Given the description of an element on the screen output the (x, y) to click on. 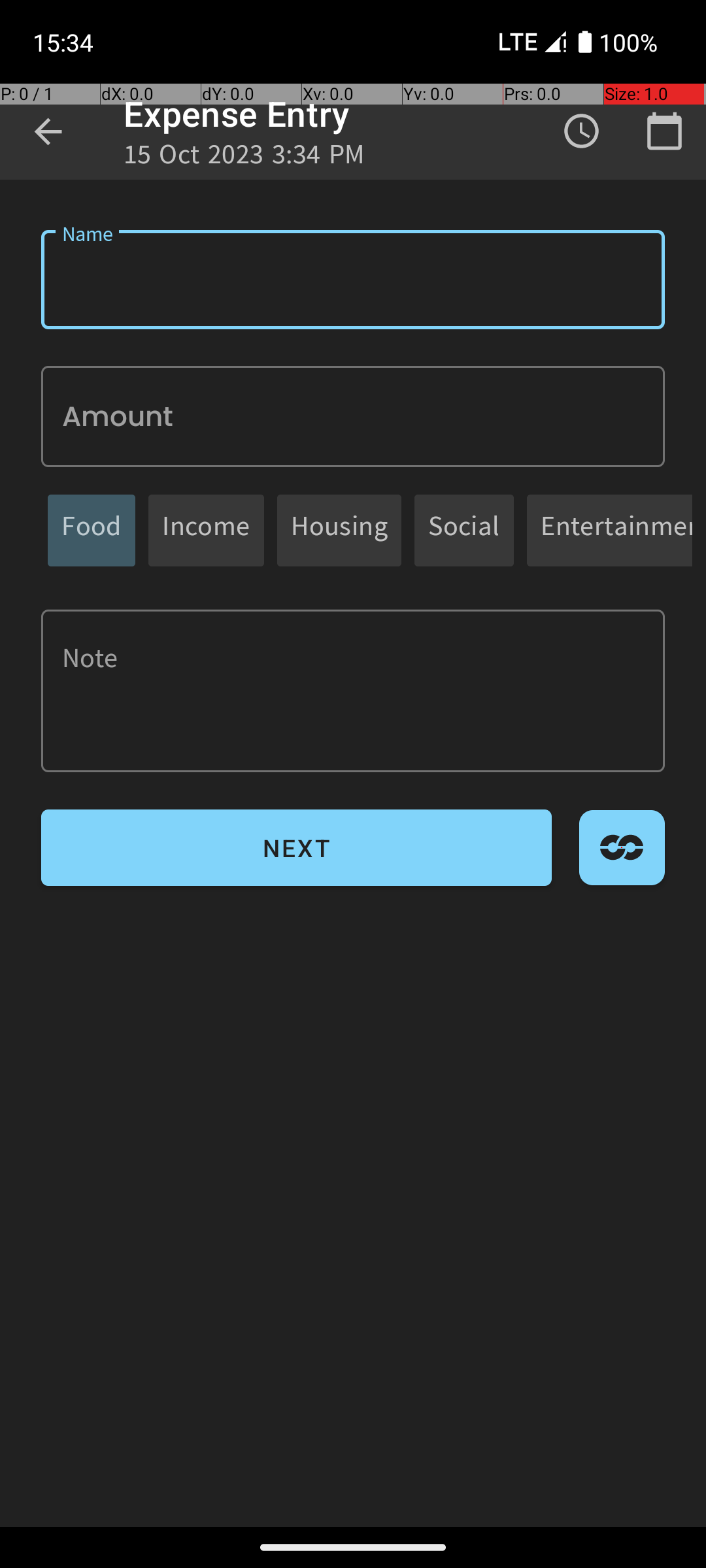
NEXT Element type: android.widget.Button (296, 847)
